Given the description of an element on the screen output the (x, y) to click on. 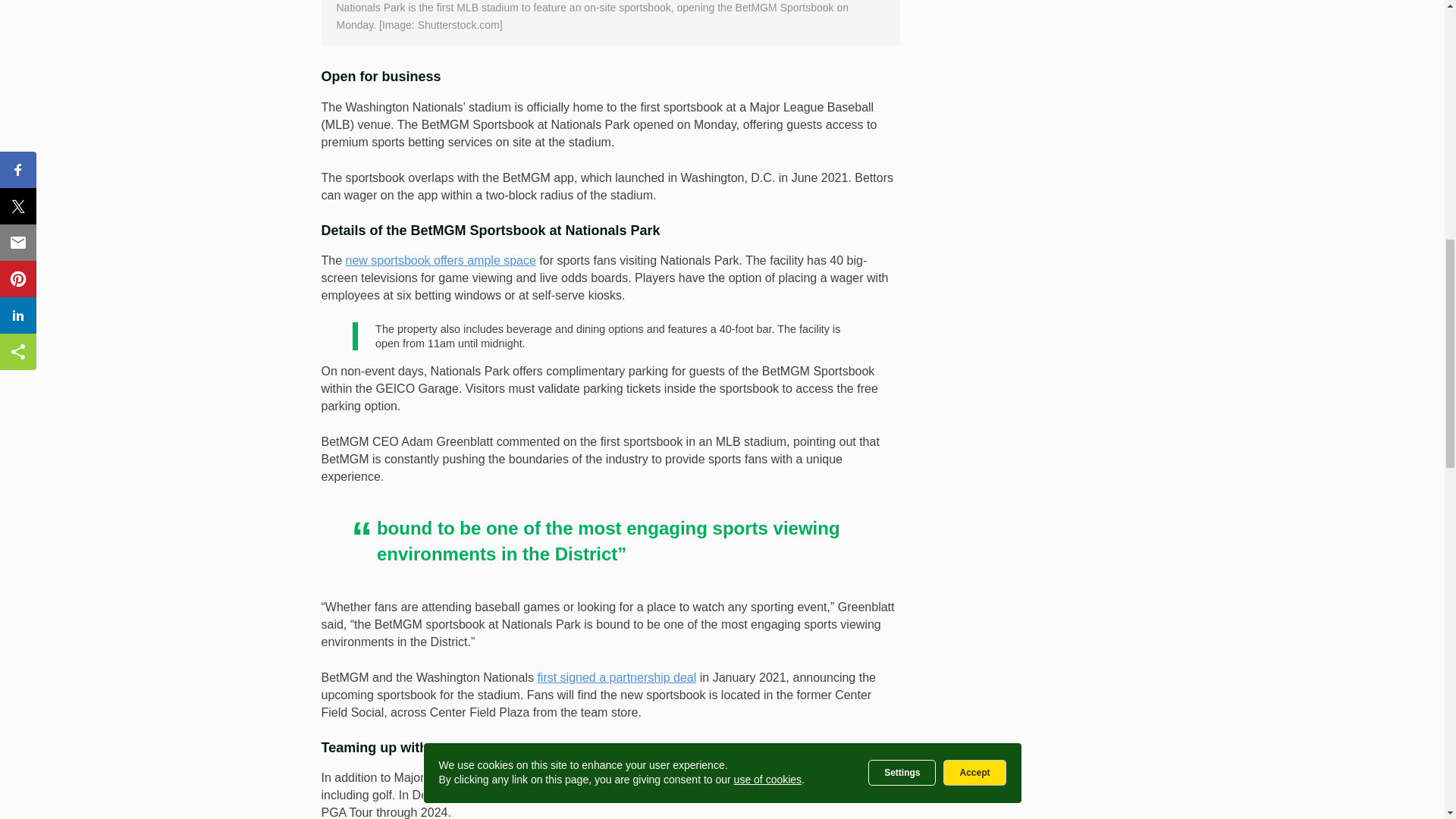
first signed a partnership deal (616, 676)
extension of its partnership deal (743, 794)
new sportsbook offers ample space (440, 259)
